Given the description of an element on the screen output the (x, y) to click on. 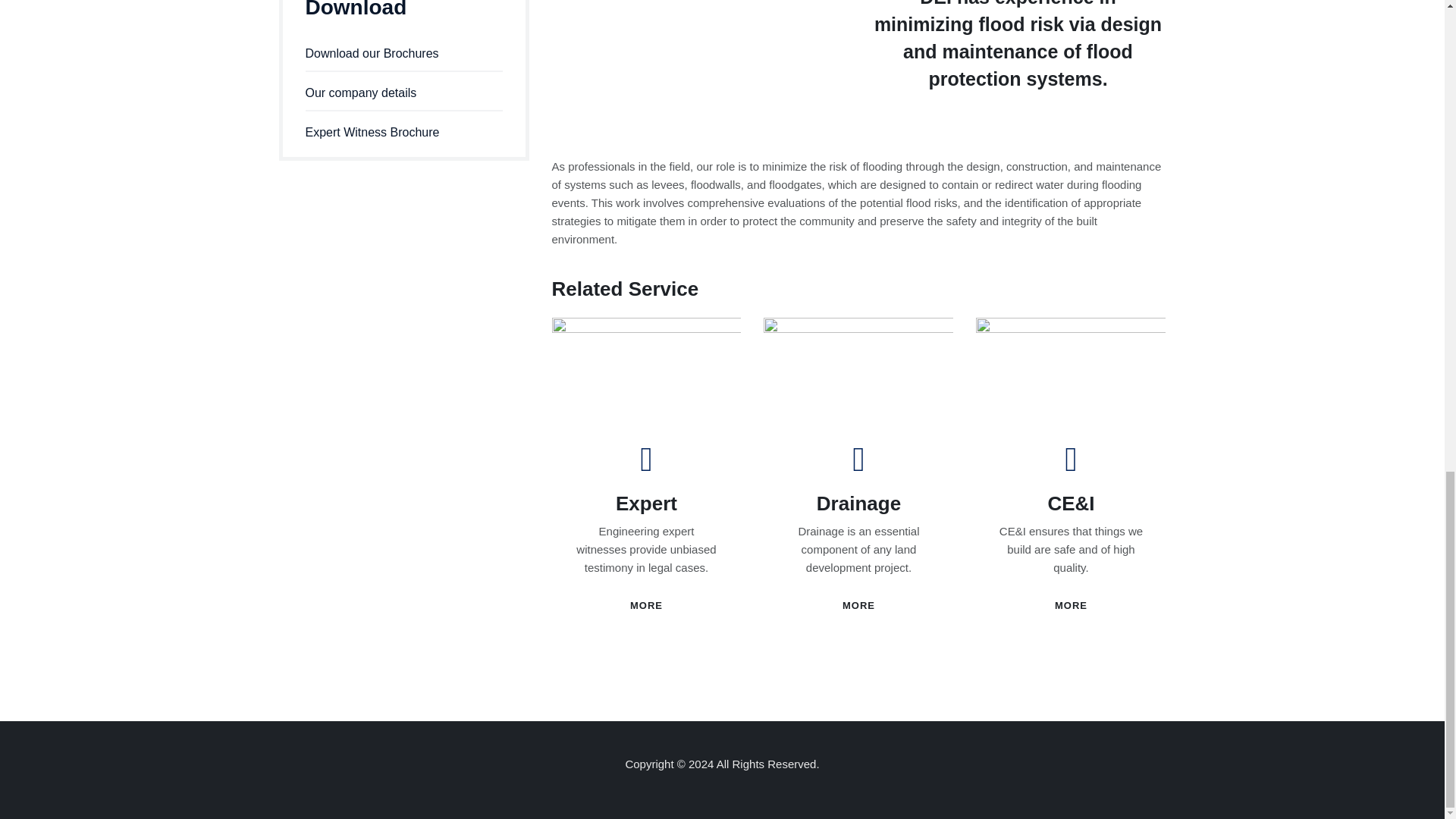
Drainage (858, 503)
MORE (1070, 605)
Expert (646, 503)
MORE (858, 605)
MORE (645, 605)
